Given the description of an element on the screen output the (x, y) to click on. 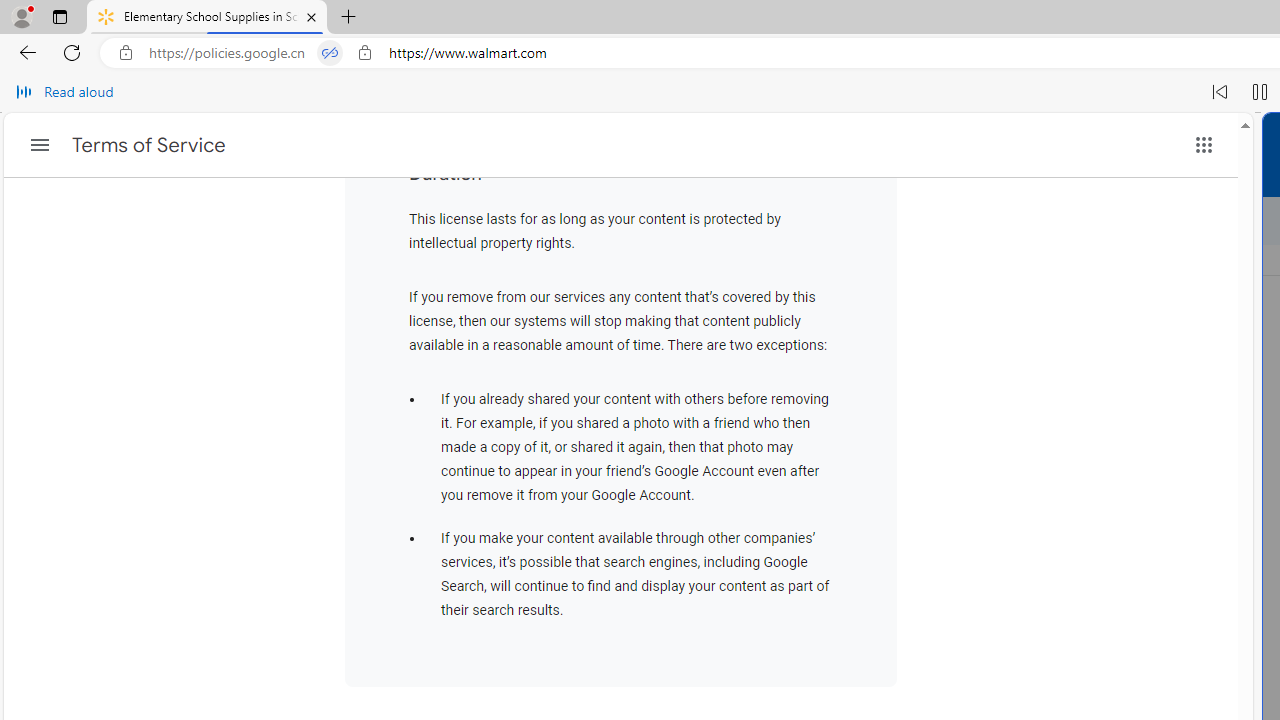
Pause read aloud (Ctrl+Shift+U) (1260, 92)
Read previous paragraph (1220, 92)
Tabs in split screen (330, 53)
